Given the description of an element on the screen output the (x, y) to click on. 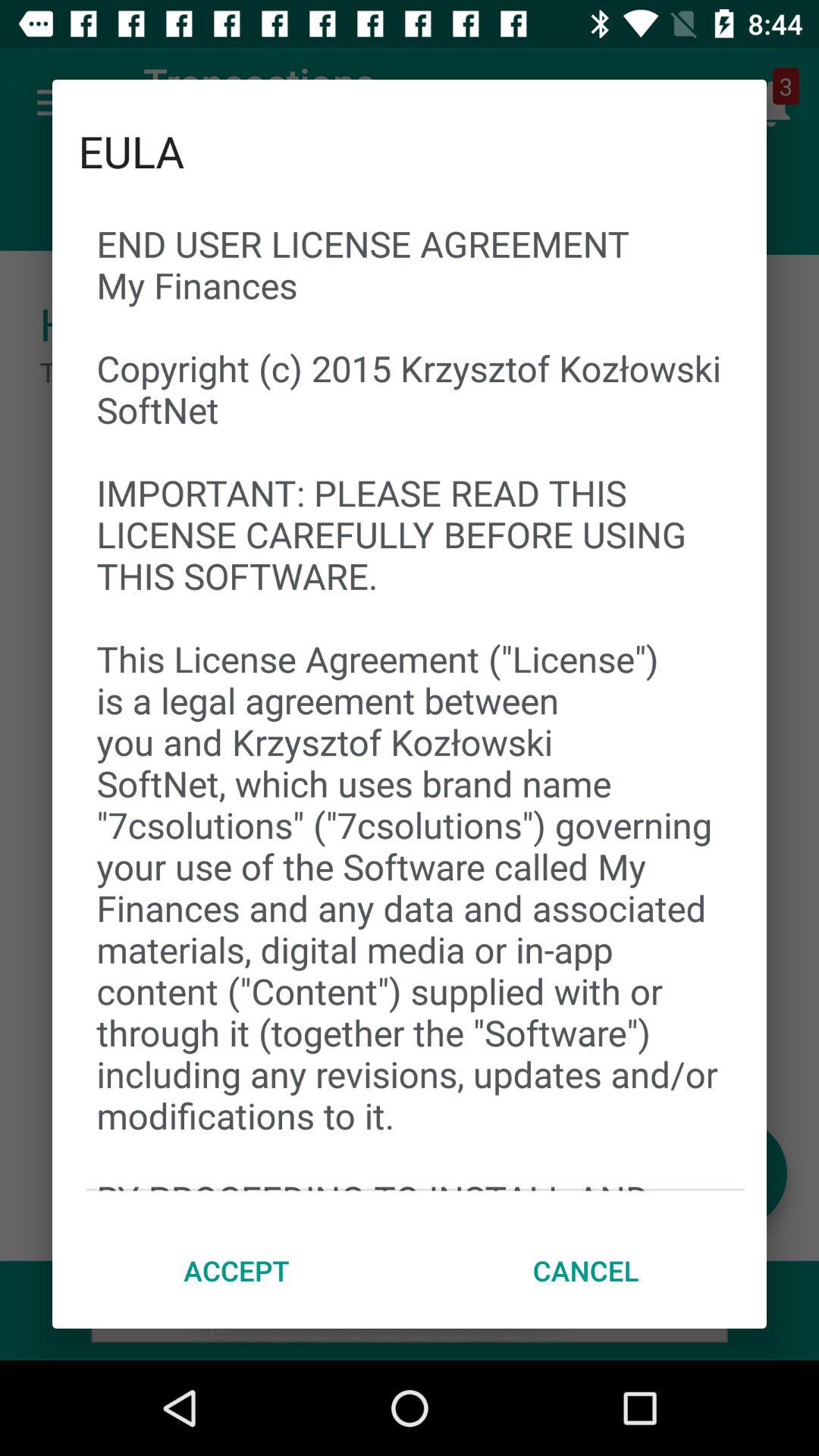
choose icon to the right of accept (585, 1270)
